Given the description of an element on the screen output the (x, y) to click on. 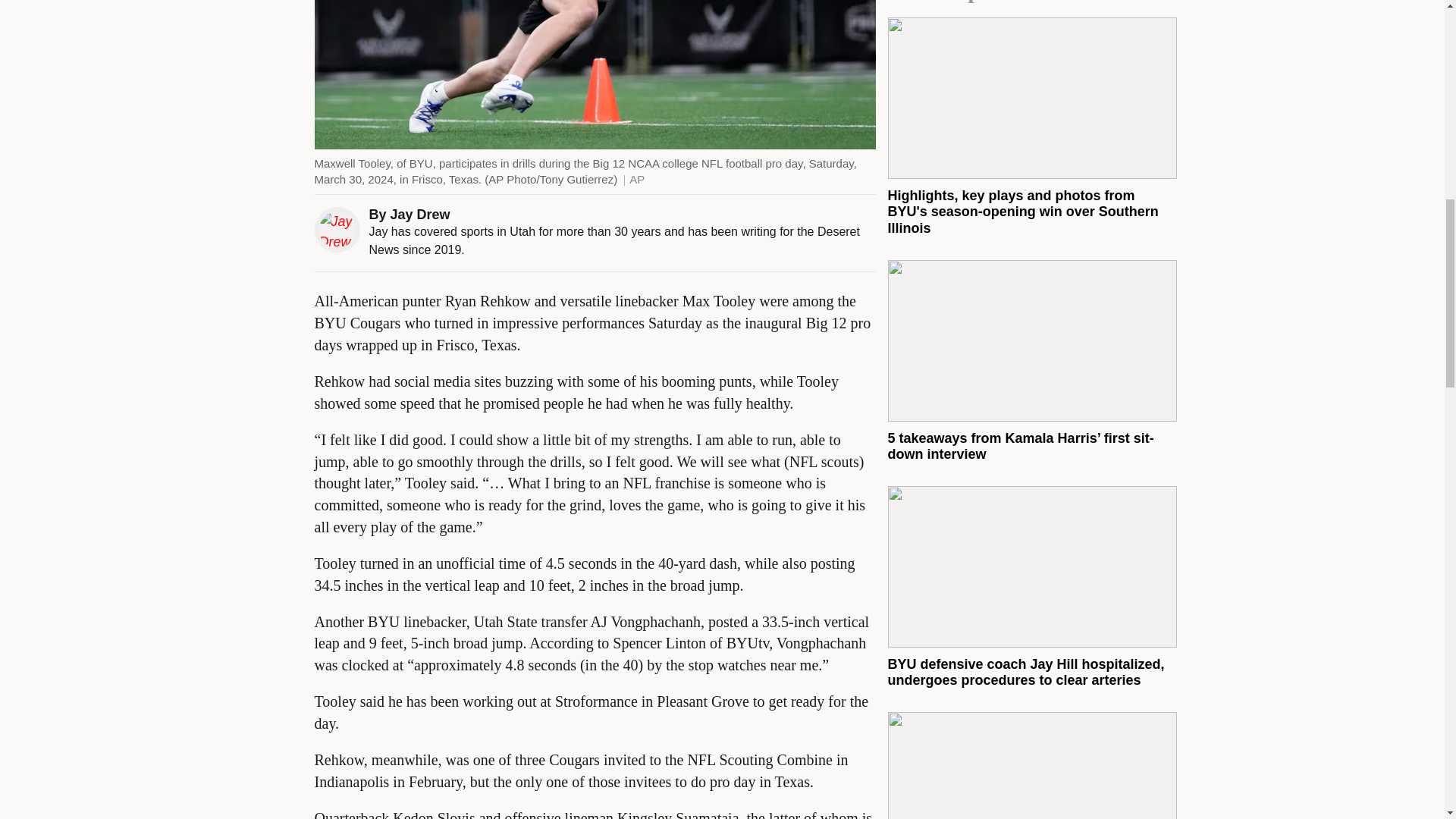
Jay Drew (419, 214)
